Given the description of an element on the screen output the (x, y) to click on. 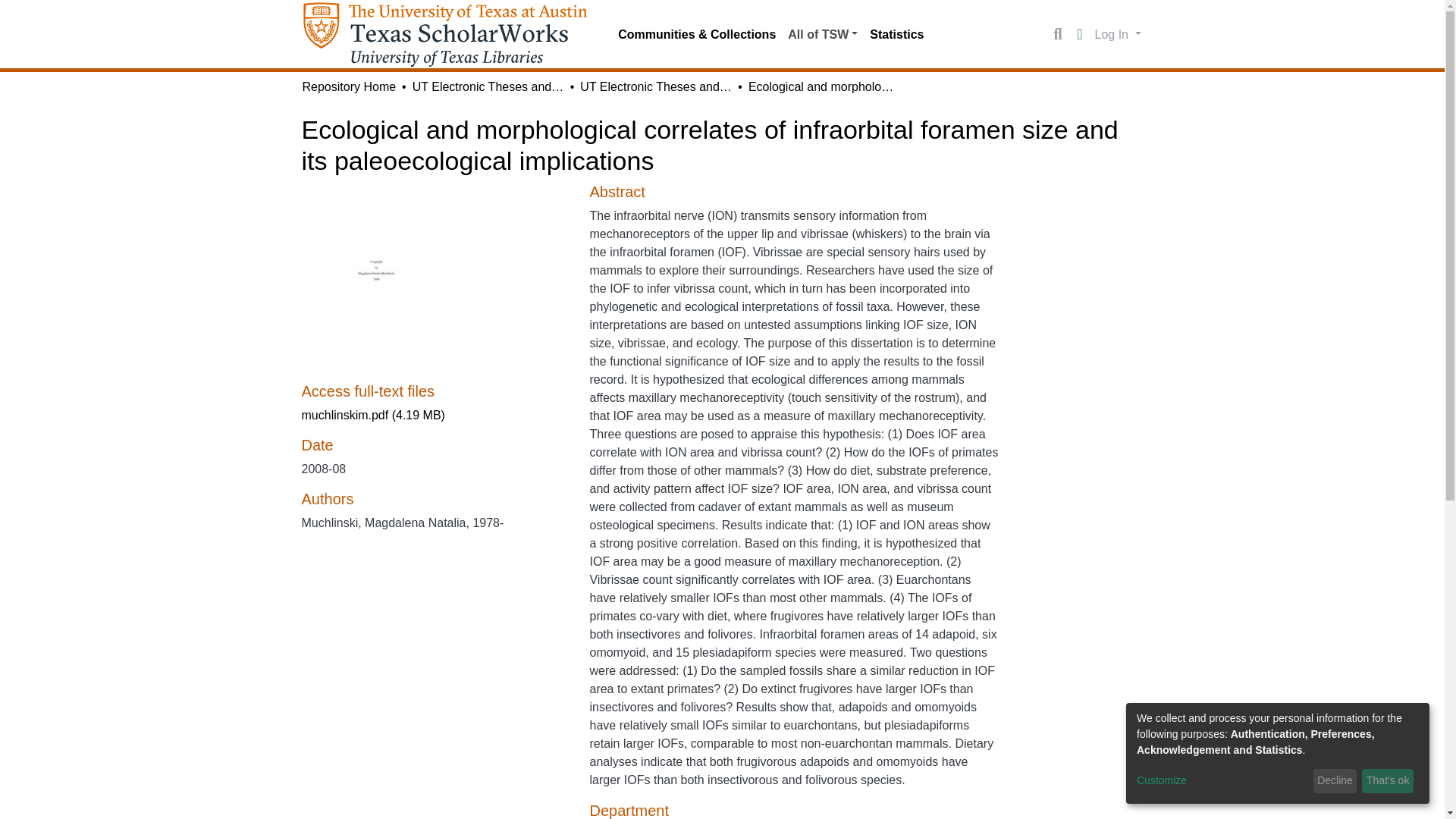
Repository Home (348, 86)
UT Electronic Theses and Dissertations (655, 86)
All of TSW (822, 34)
Language switch (1079, 34)
Search (1057, 34)
Log In (1117, 33)
UT Electronic Theses and Dissertations (488, 86)
Statistics (896, 34)
Statistics (896, 34)
